Given the description of an element on the screen output the (x, y) to click on. 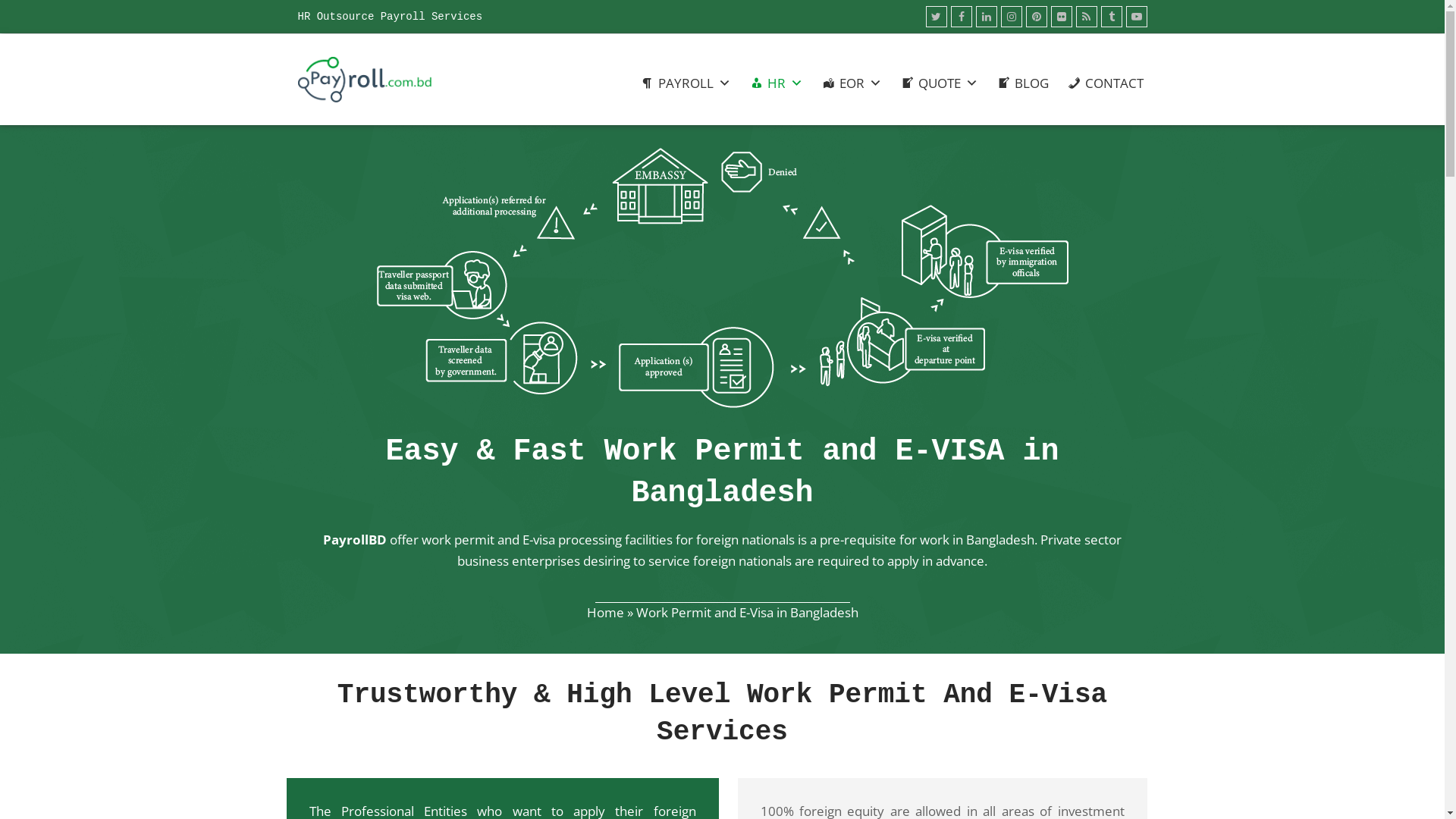
Facebook Element type: text (961, 16)
HR Element type: text (775, 83)
Youtube Element type: text (1135, 16)
Instagram Element type: text (1011, 16)
EOR Element type: text (851, 83)
LinkedIn Element type: text (985, 16)
Home Element type: text (605, 612)
BLOG Element type: text (1021, 83)
RSS Element type: text (1085, 16)
Tumblr Element type: text (1111, 16)
Twitter Element type: text (935, 16)
PAYROLL Element type: text (684, 83)
Flickr Element type: text (1061, 16)
CONTACT Element type: text (1105, 83)
QUOTE Element type: text (939, 83)
Pinterest Element type: text (1035, 16)
Easy & Fast Work Permit and E-VISA in Bangladesh Element type: hover (721, 277)
